Given the description of an element on the screen output the (x, y) to click on. 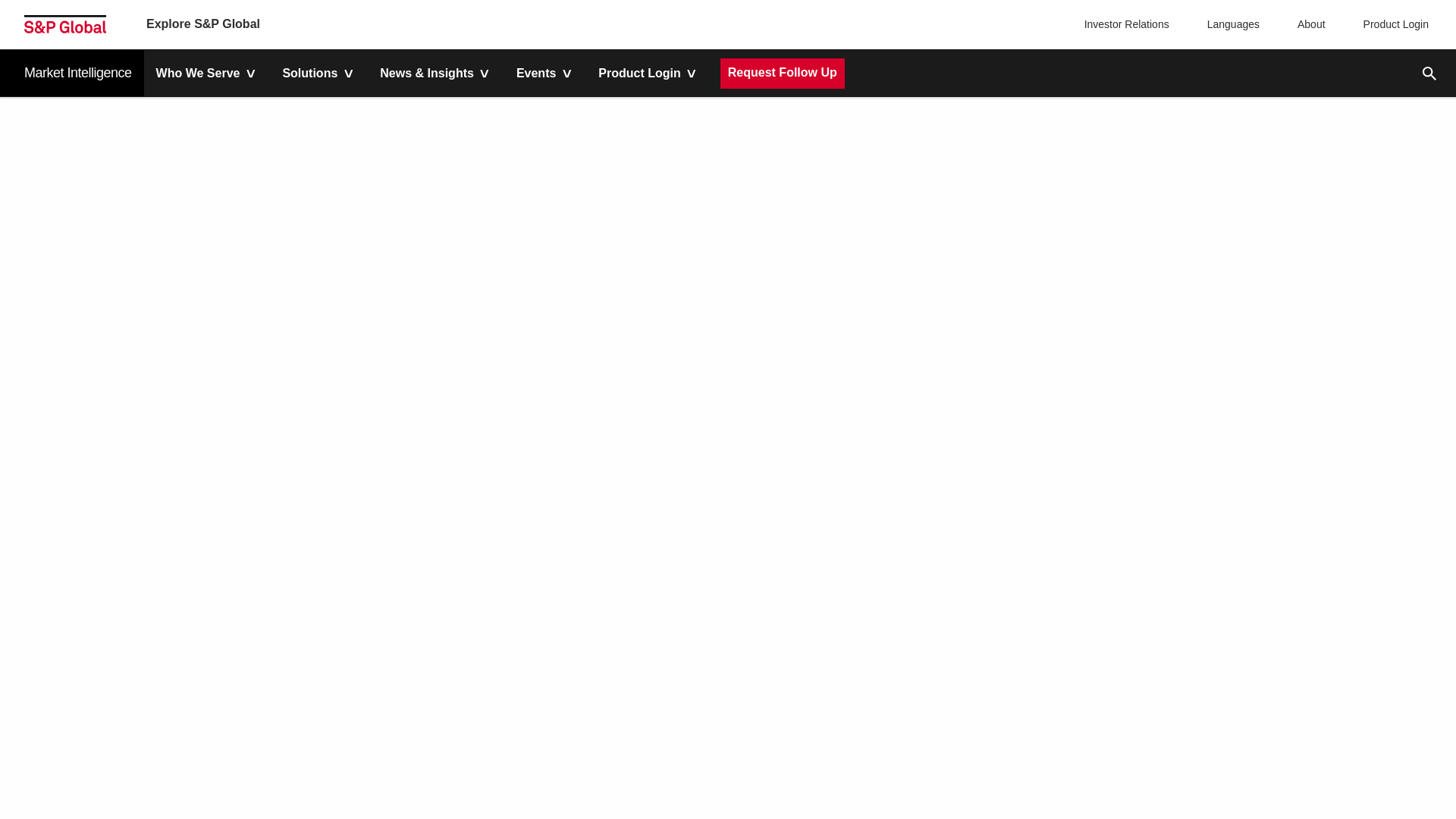
Languages (1230, 24)
Investor Relations (1129, 24)
About (1307, 24)
Product Login (1392, 24)
